Given the description of an element on the screen output the (x, y) to click on. 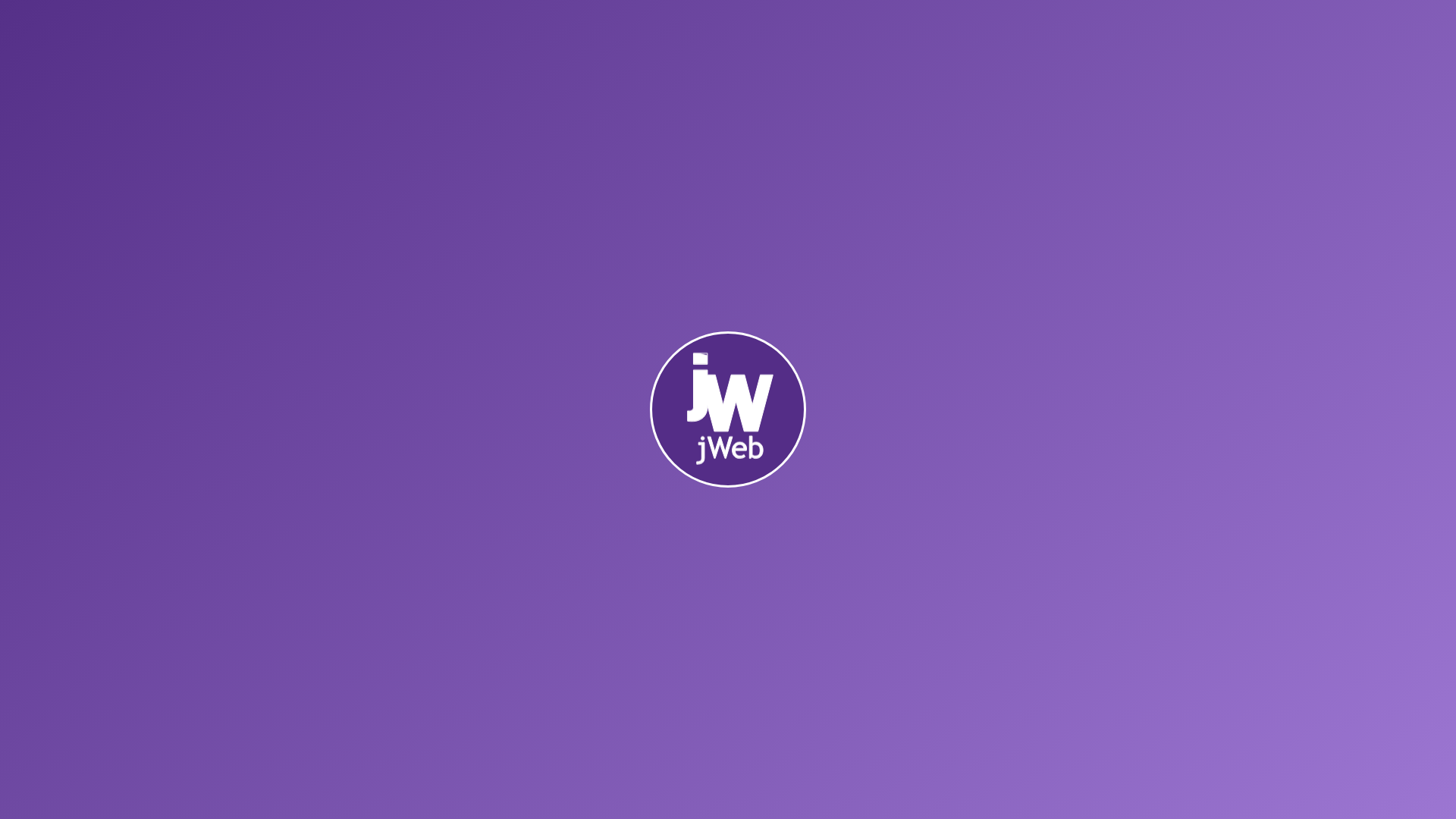
Search (51, 18)
Blog (235, 495)
Home (194, 495)
